Given the description of an element on the screen output the (x, y) to click on. 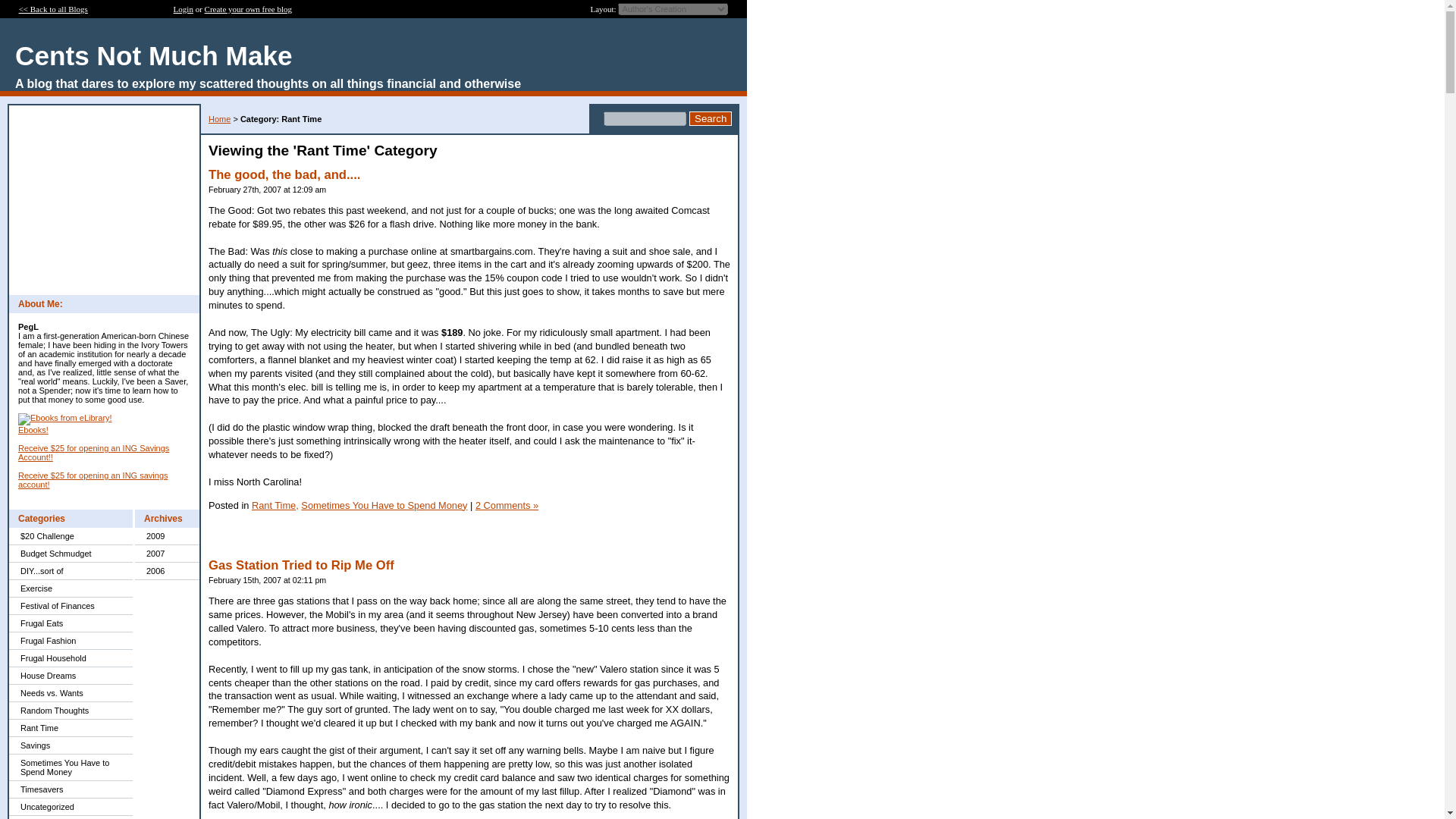
Rant Time (70, 728)
Frugal Eats (70, 623)
Festival of Finances (70, 606)
Savings (70, 745)
2006 (167, 570)
Frugal Household (70, 658)
Budget Schmudget (70, 553)
Advertisement (103, 199)
Uncategorized (70, 806)
DIY...sort of (70, 570)
Login (183, 8)
Timesavers (70, 789)
Festival of Finances (70, 606)
Frugal Eats (70, 623)
House Dreams (70, 675)
